Given the description of an element on the screen output the (x, y) to click on. 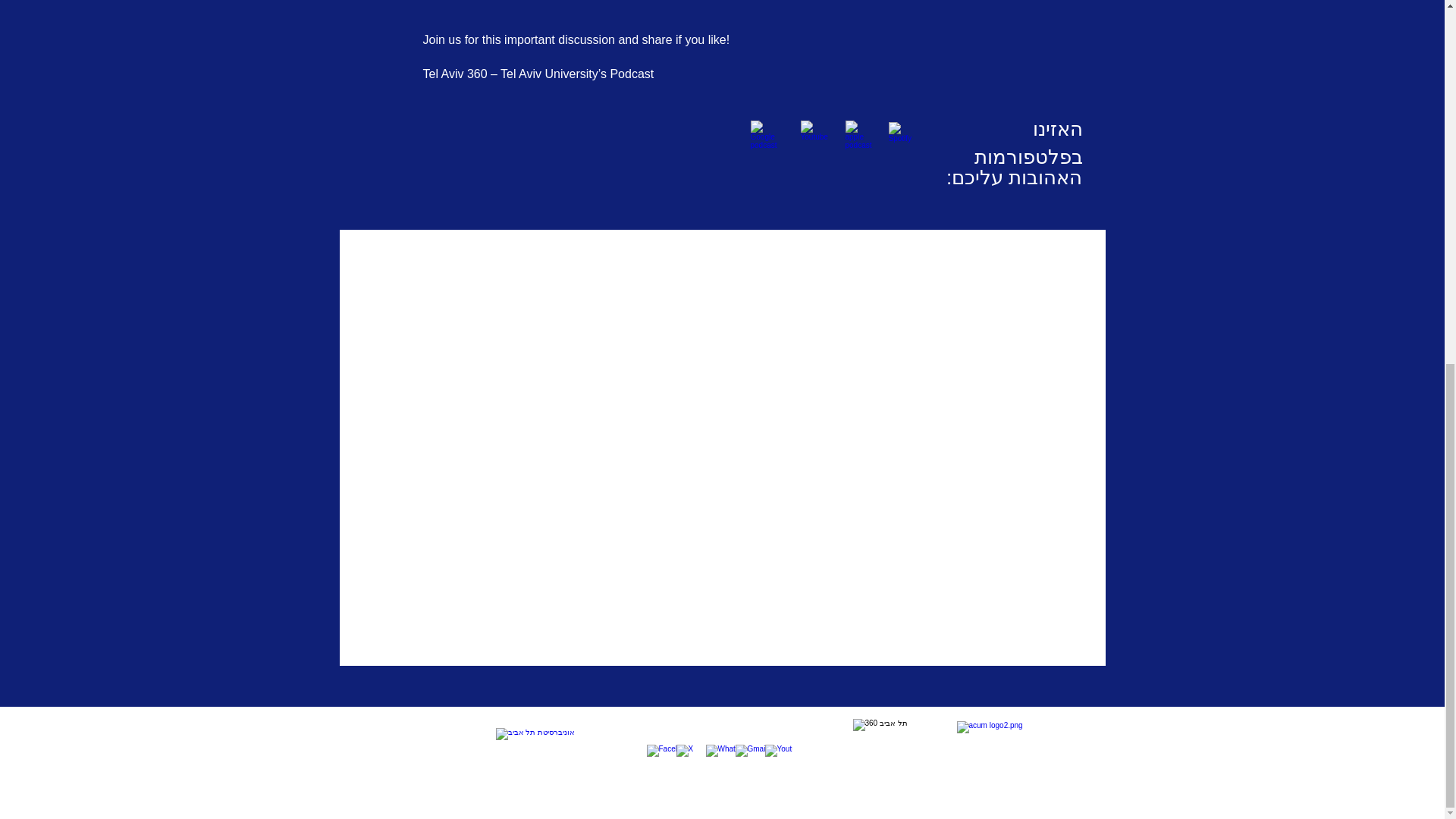
Google podcast (767, 137)
Youtube (817, 137)
Spotify (901, 135)
